Given the description of an element on the screen output the (x, y) to click on. 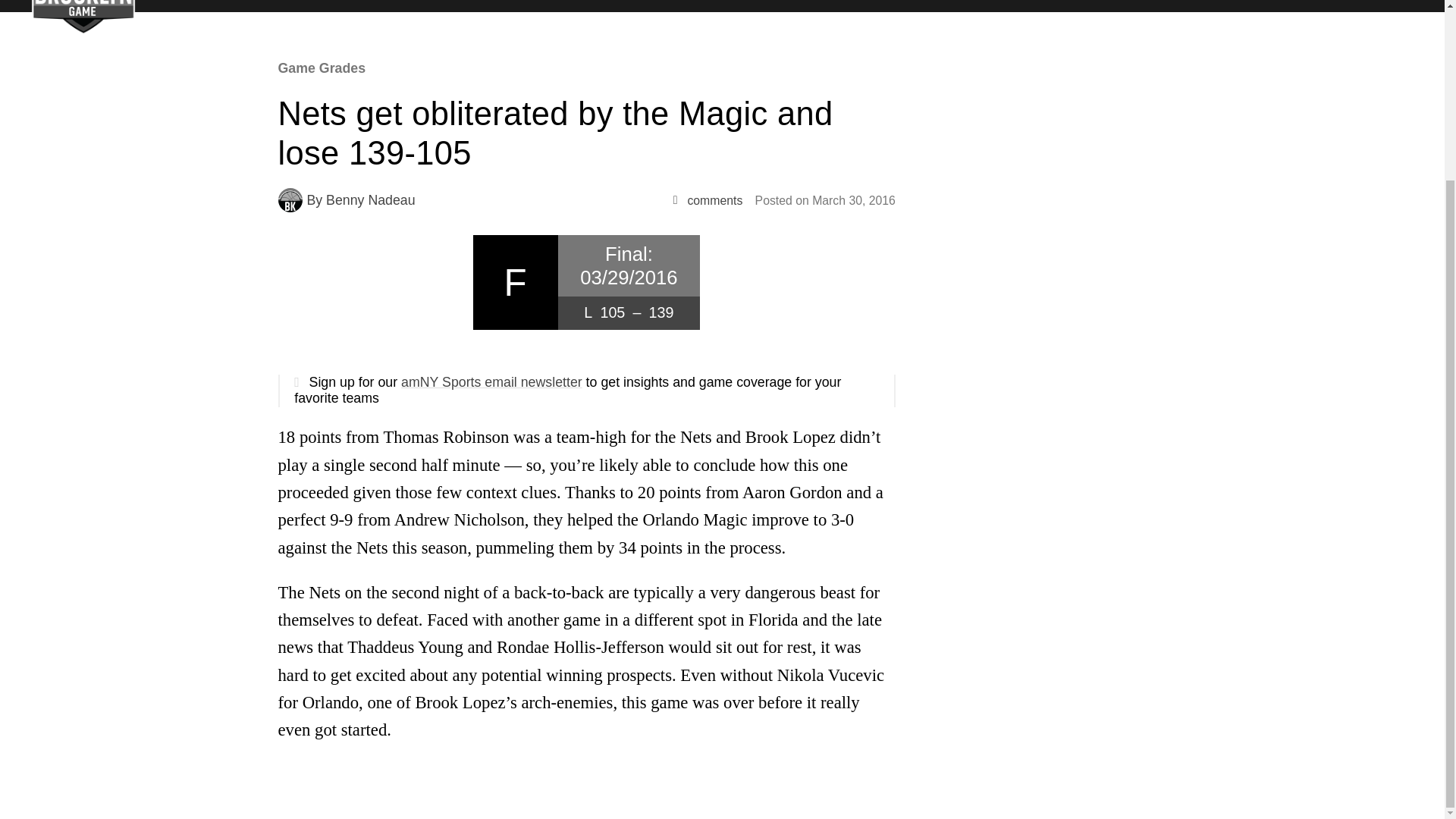
Posts by Benny Nadeau (370, 200)
